Given the description of an element on the screen output the (x, y) to click on. 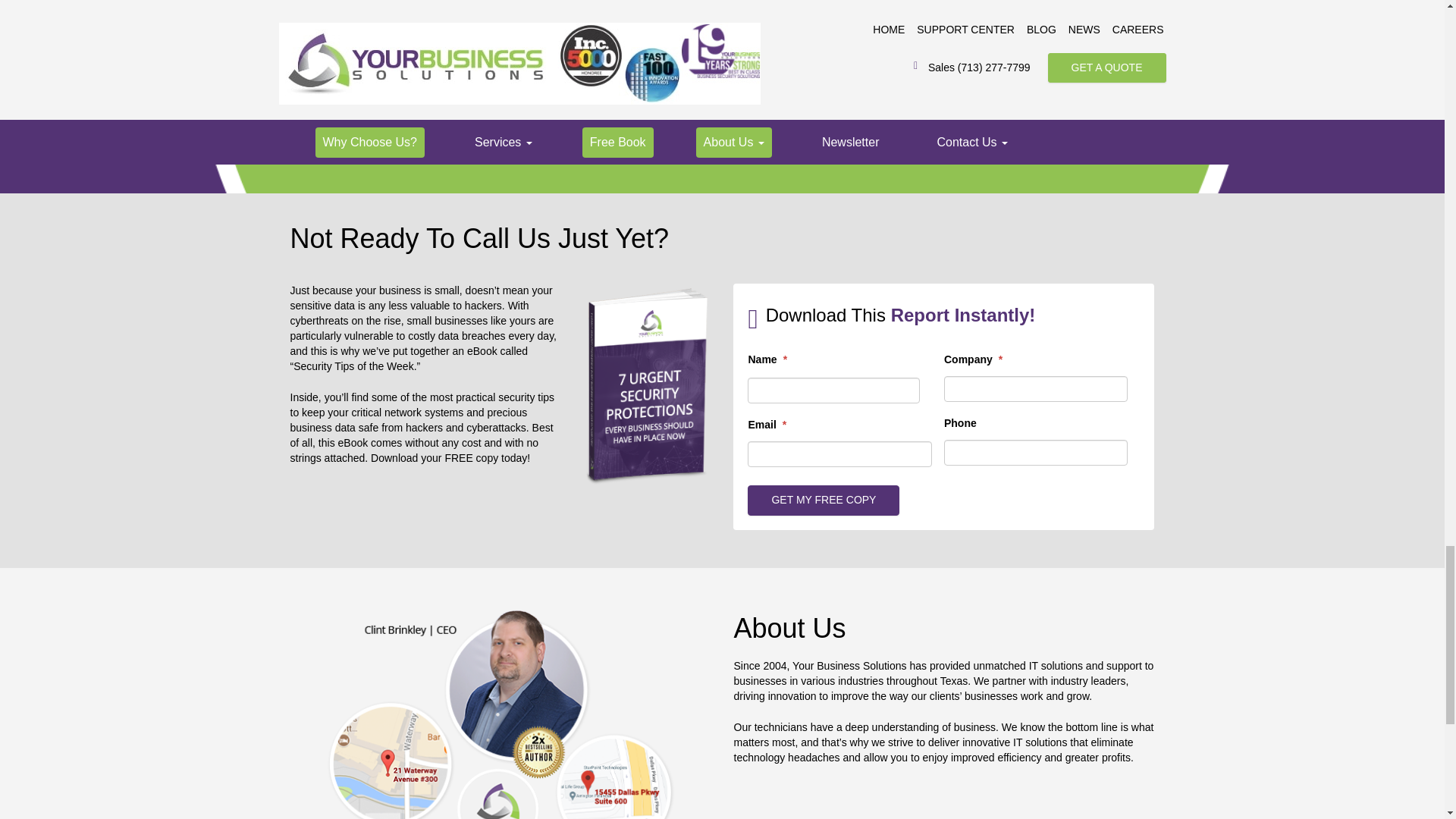
GET MY FREE COPY (823, 500)
